Given the description of an element on the screen output the (x, y) to click on. 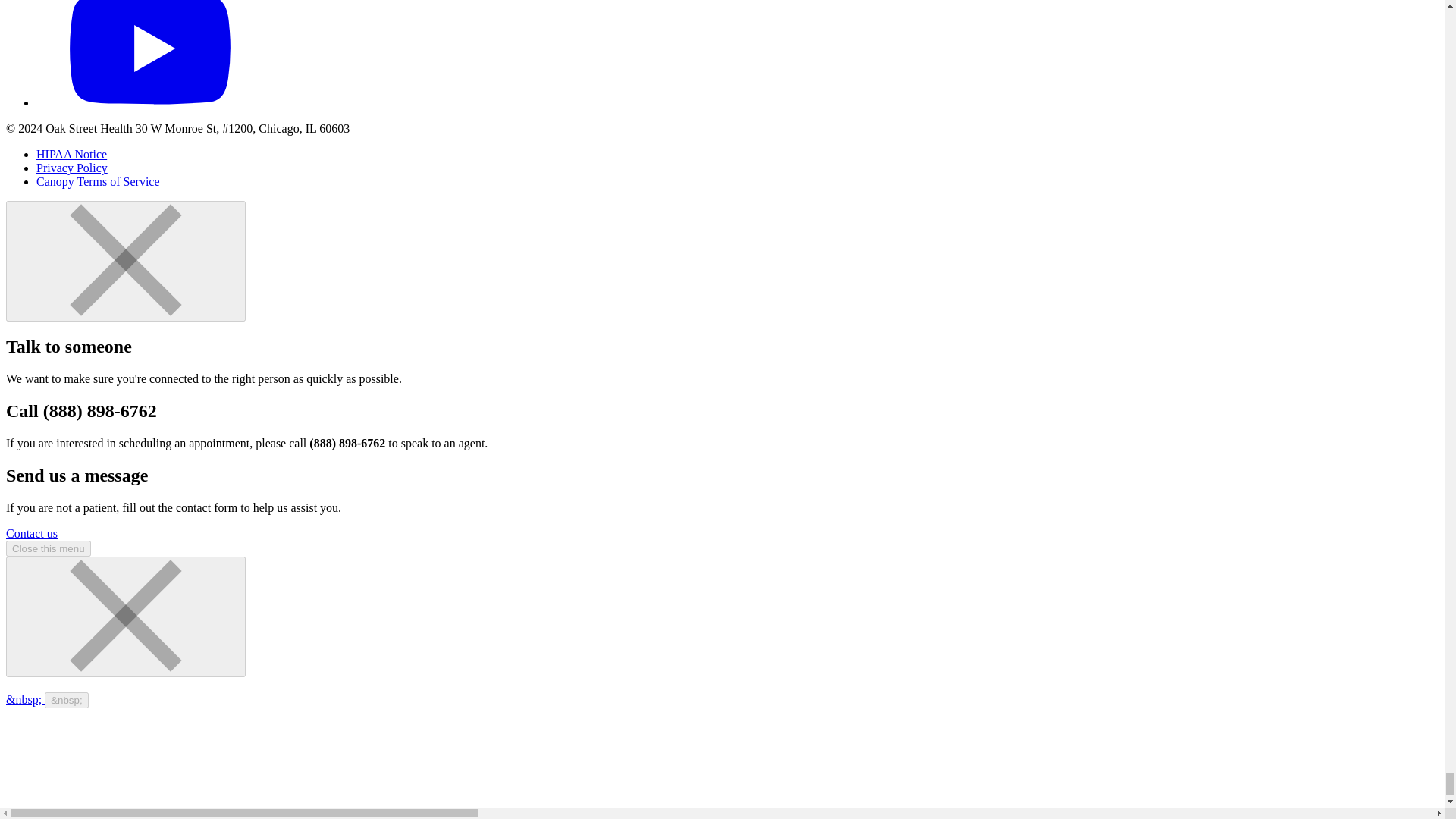
YouTube (149, 102)
